Given the description of an element on the screen output the (x, y) to click on. 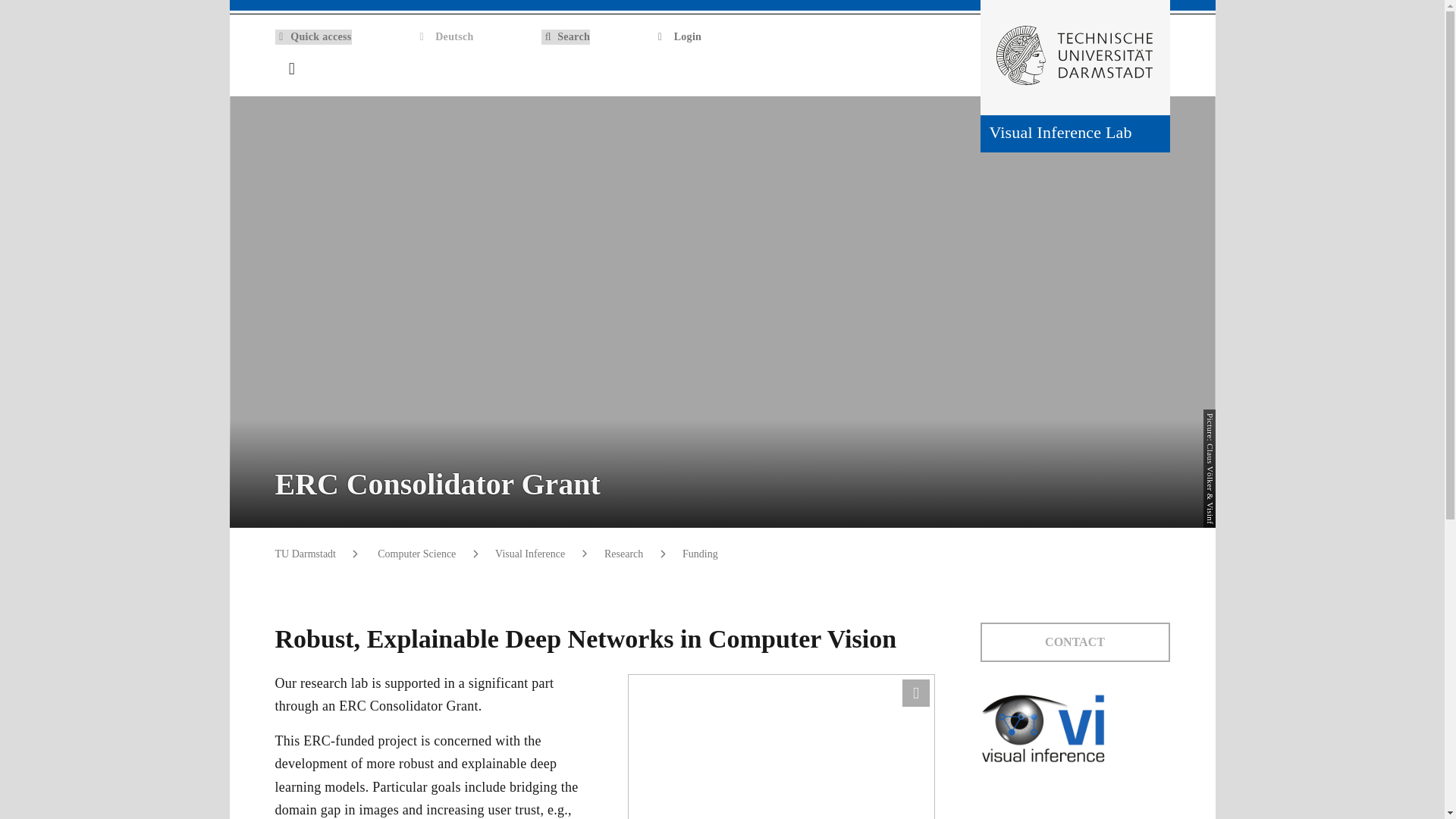
Skip menu (13, 5)
Visual Inference Lab (1074, 133)
Home of institution (1160, 69)
TU Darmstadt (304, 553)
Home of institution (1160, 69)
Computer Science (416, 553)
Search (565, 37)
Open search panel (1128, 69)
Quick access (312, 37)
Department of Computer Science (416, 553)
